Given the description of an element on the screen output the (x, y) to click on. 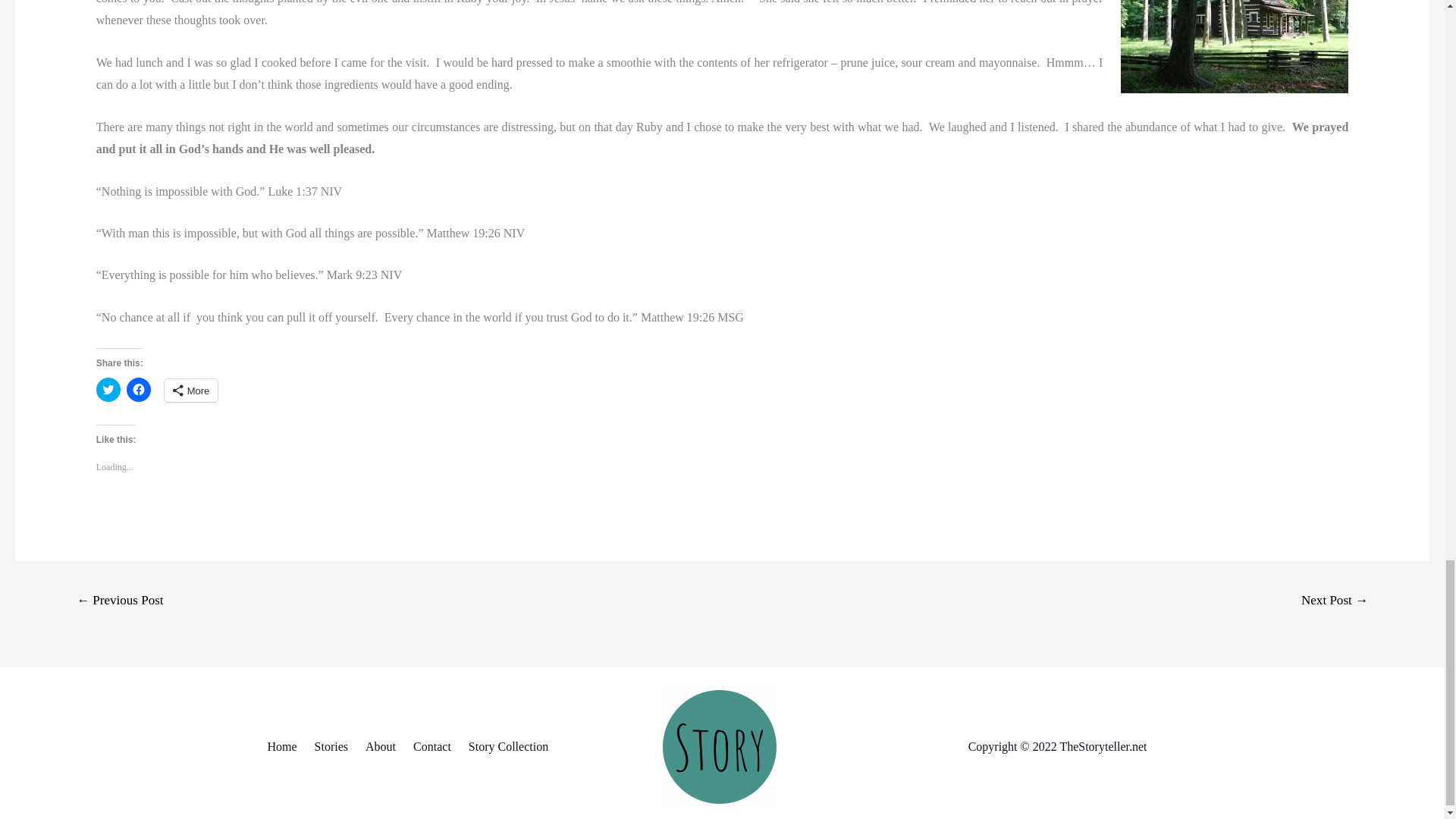
Story Collection (511, 746)
Home (286, 746)
Stories (333, 746)
Click to share on Facebook (138, 389)
About (383, 746)
Contact (435, 746)
Click to share on Twitter (108, 389)
More (191, 390)
